Given the description of an element on the screen output the (x, y) to click on. 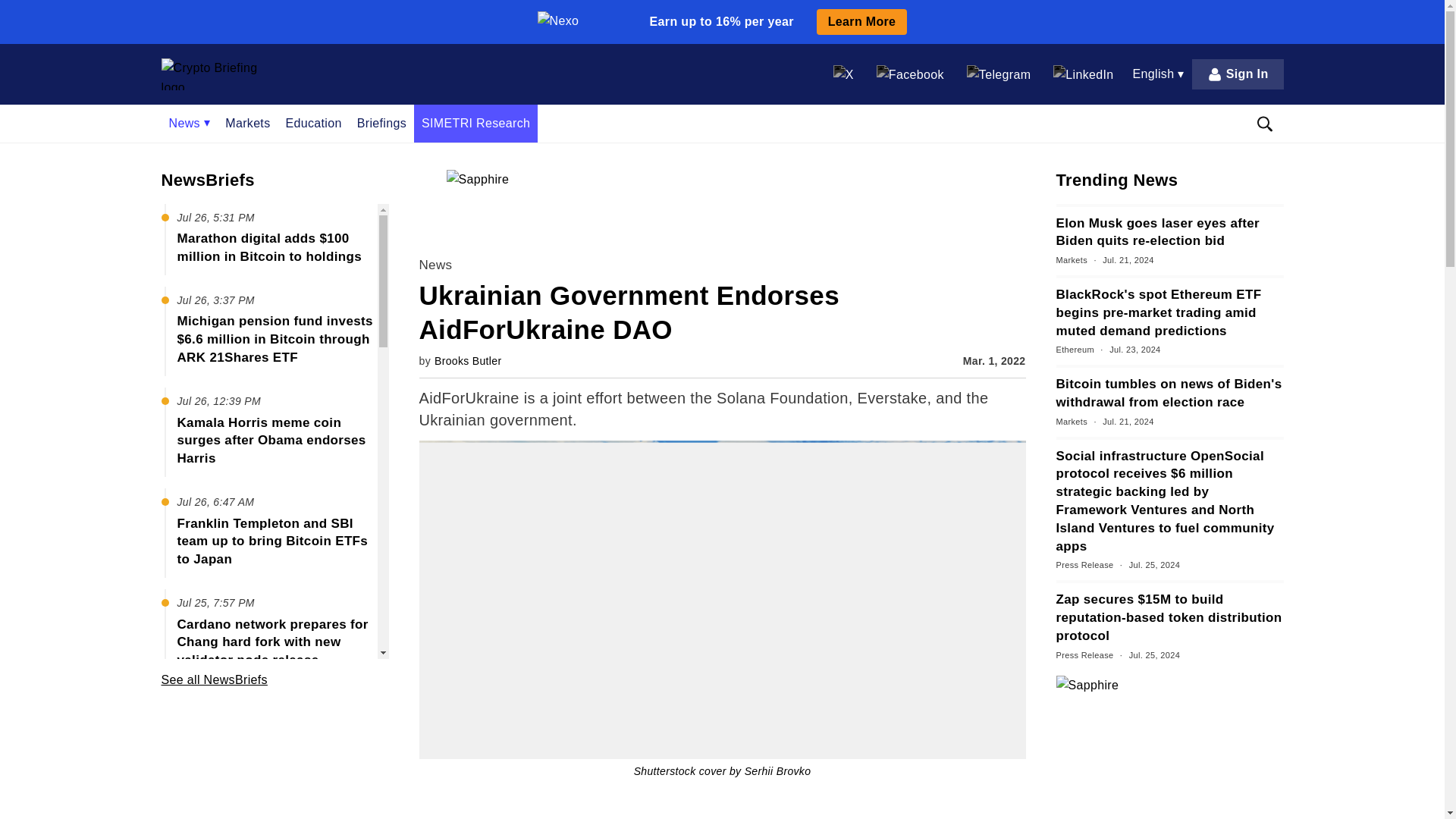
Sign In (1238, 73)
News (188, 123)
Sign In (1238, 73)
Learn More (861, 22)
